Given the description of an element on the screen output the (x, y) to click on. 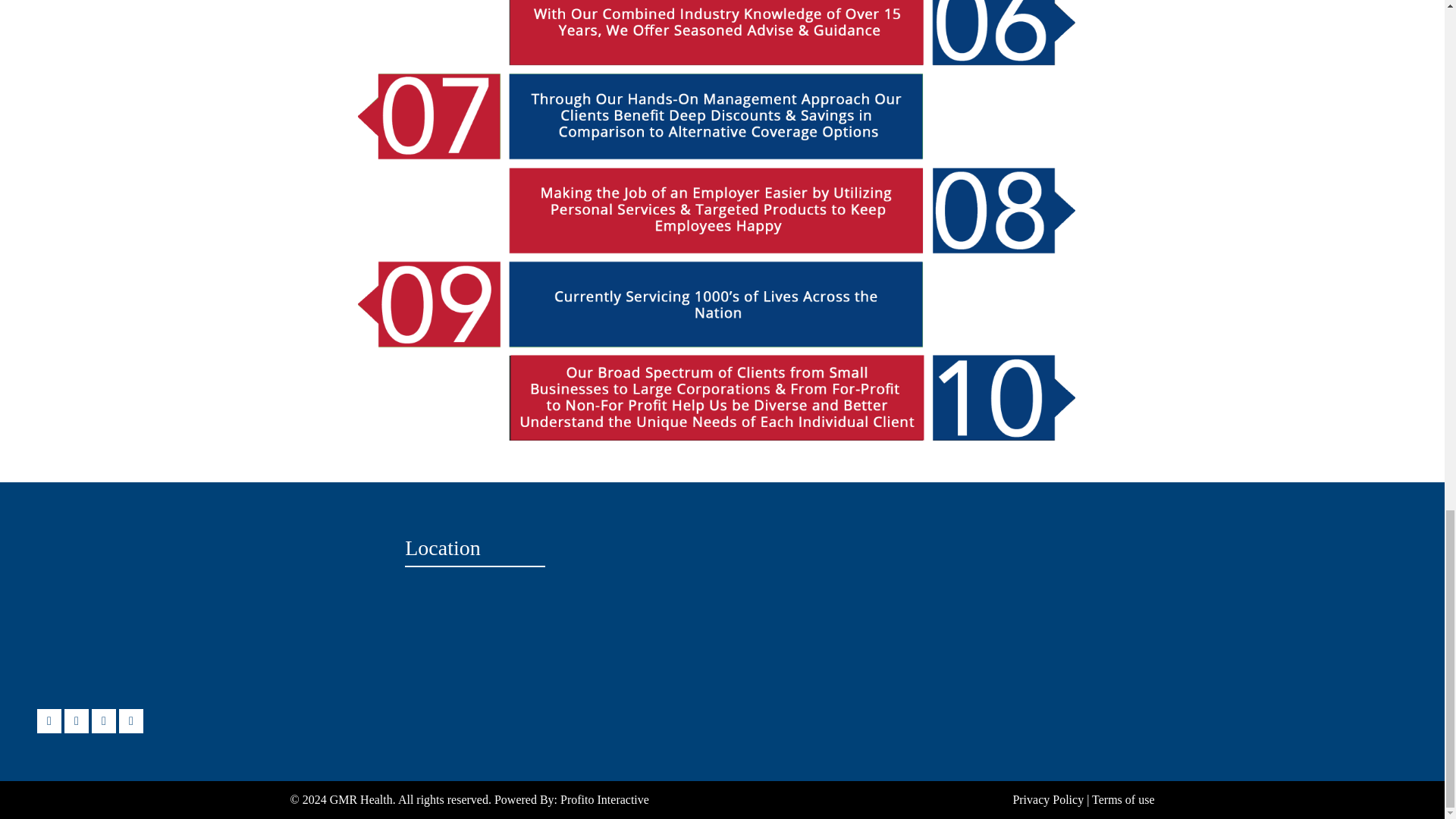
Privacy Policy (1047, 799)
Terms of use (1123, 799)
Profito Interactive (604, 799)
